Given the description of an element on the screen output the (x, y) to click on. 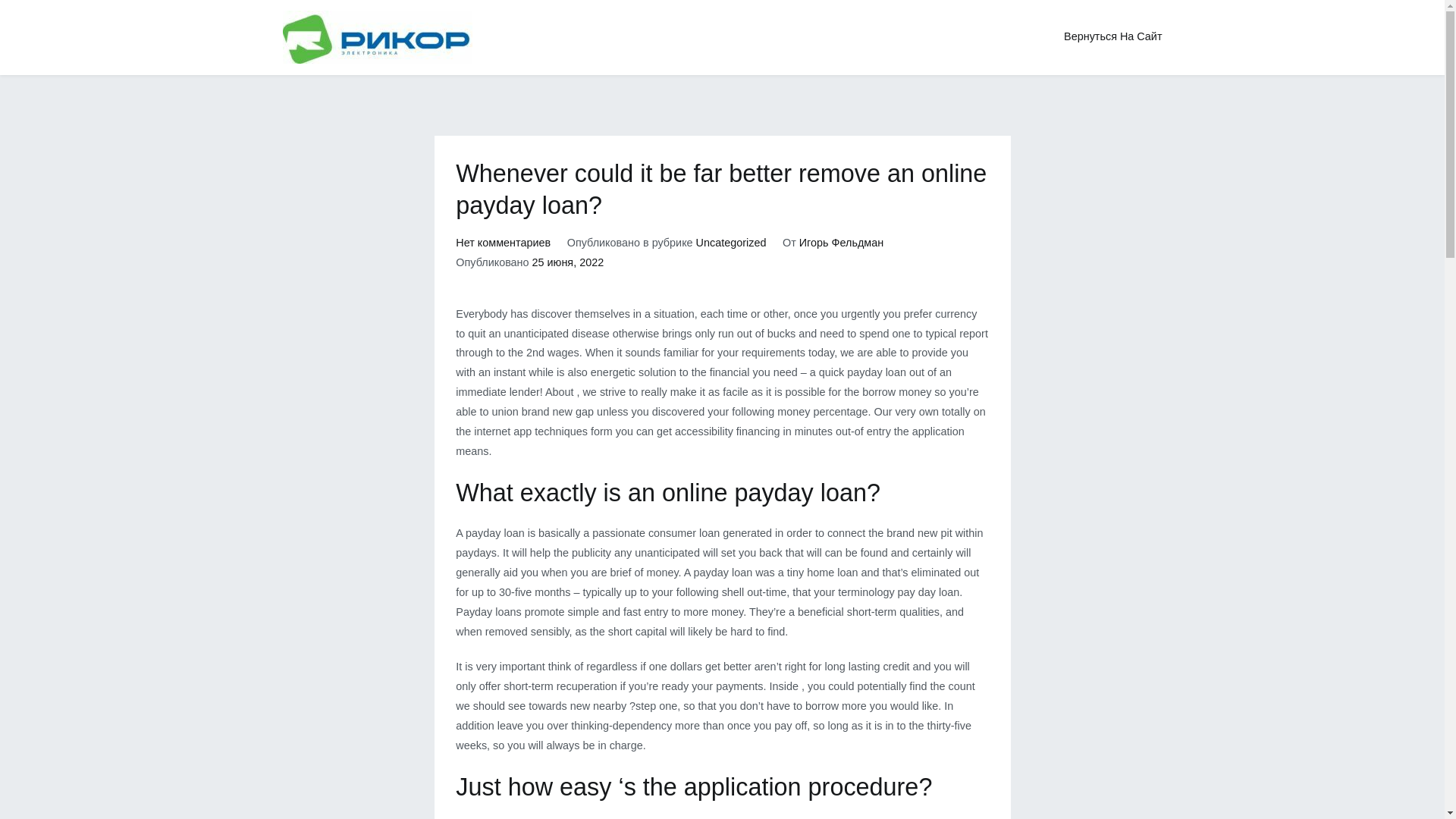
Uncategorized (731, 242)
